Given the description of an element on the screen output the (x, y) to click on. 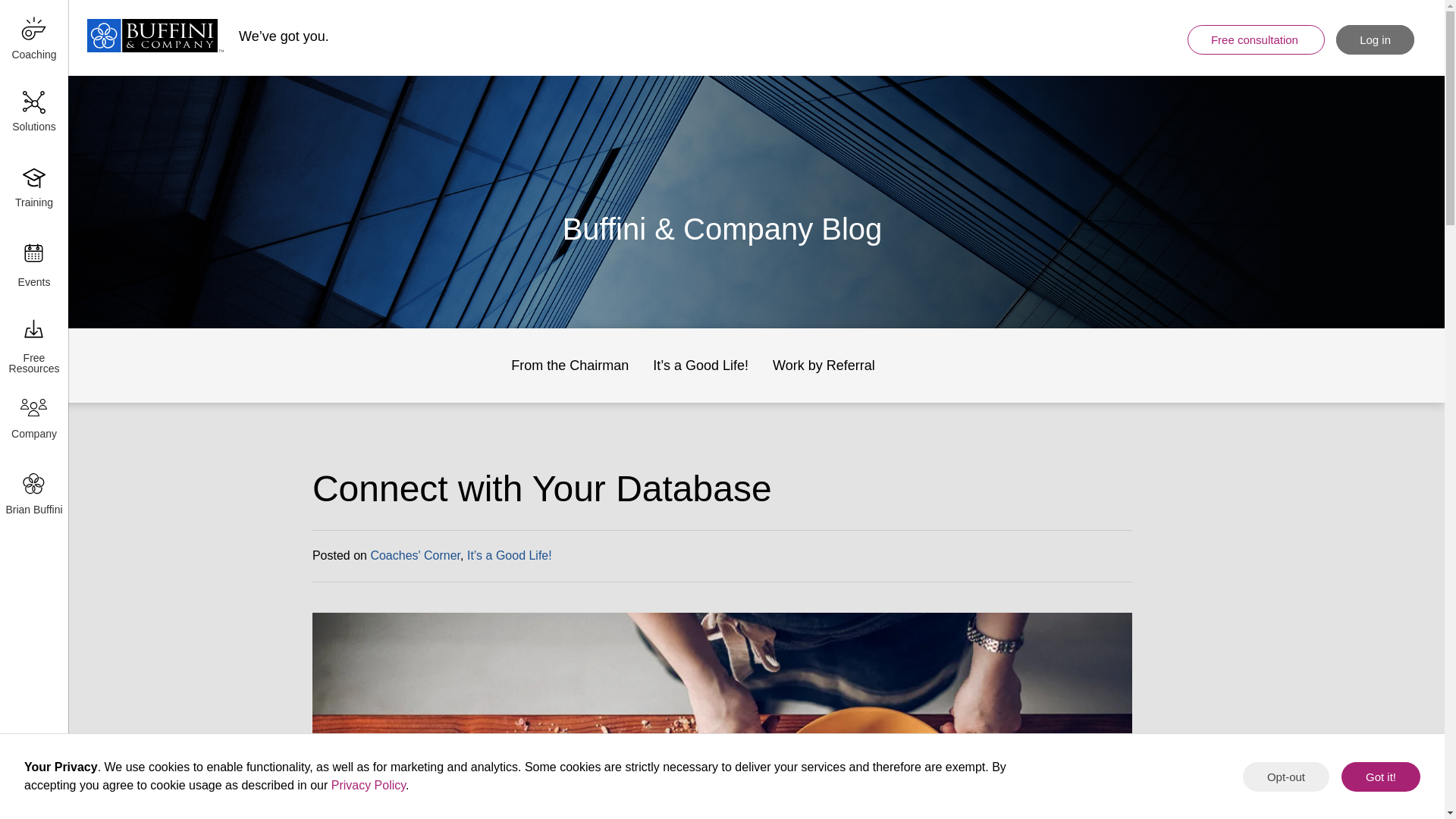
Solutions (33, 113)
Coaching (33, 37)
Free consultation (1256, 39)
Log in (1374, 39)
Training (33, 189)
